Given the description of an element on the screen output the (x, y) to click on. 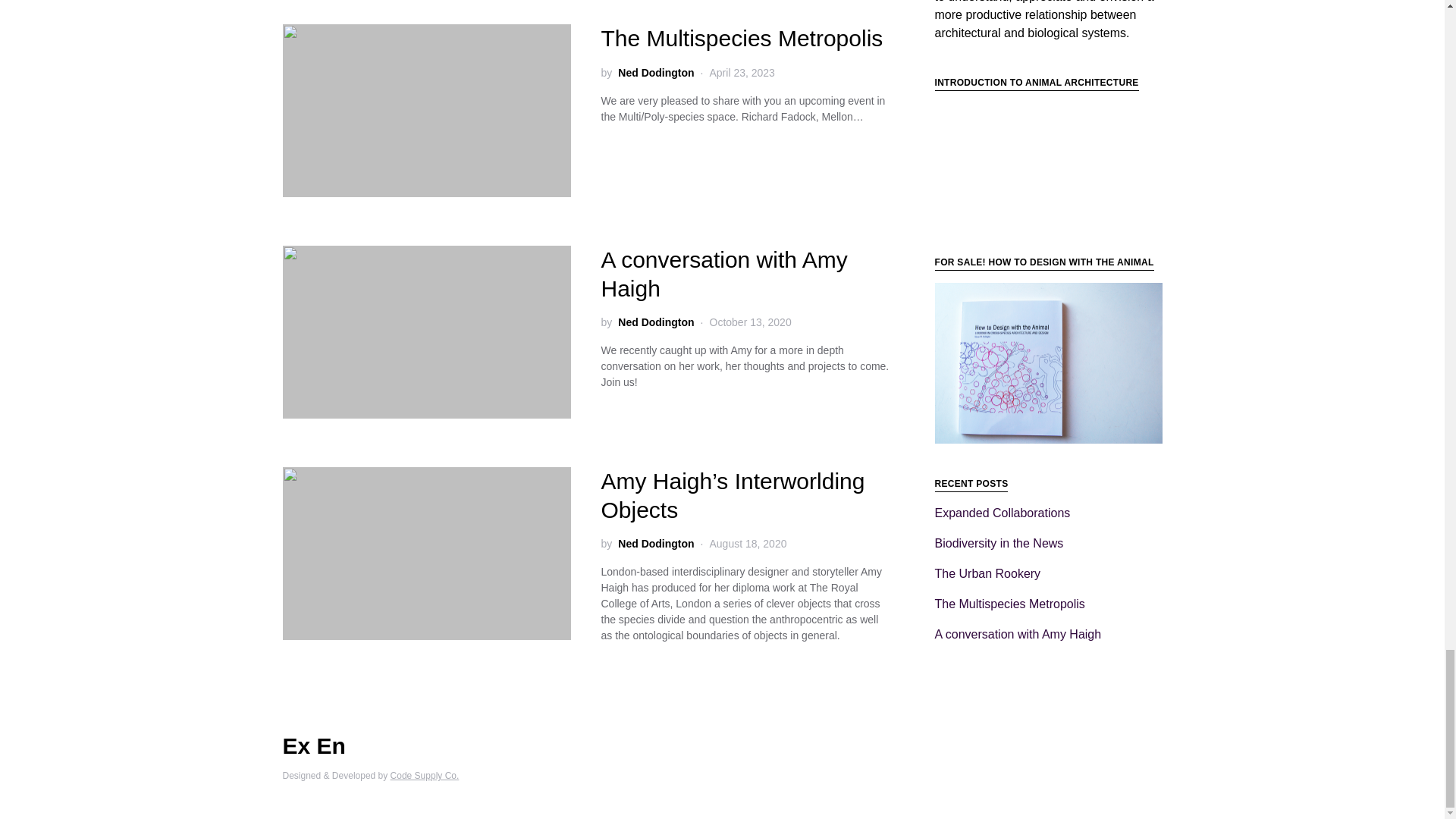
View all posts by Ned Dodington (655, 322)
View all posts by Ned Dodington (655, 72)
View all posts by Ned Dodington (655, 544)
